Given the description of an element on the screen output the (x, y) to click on. 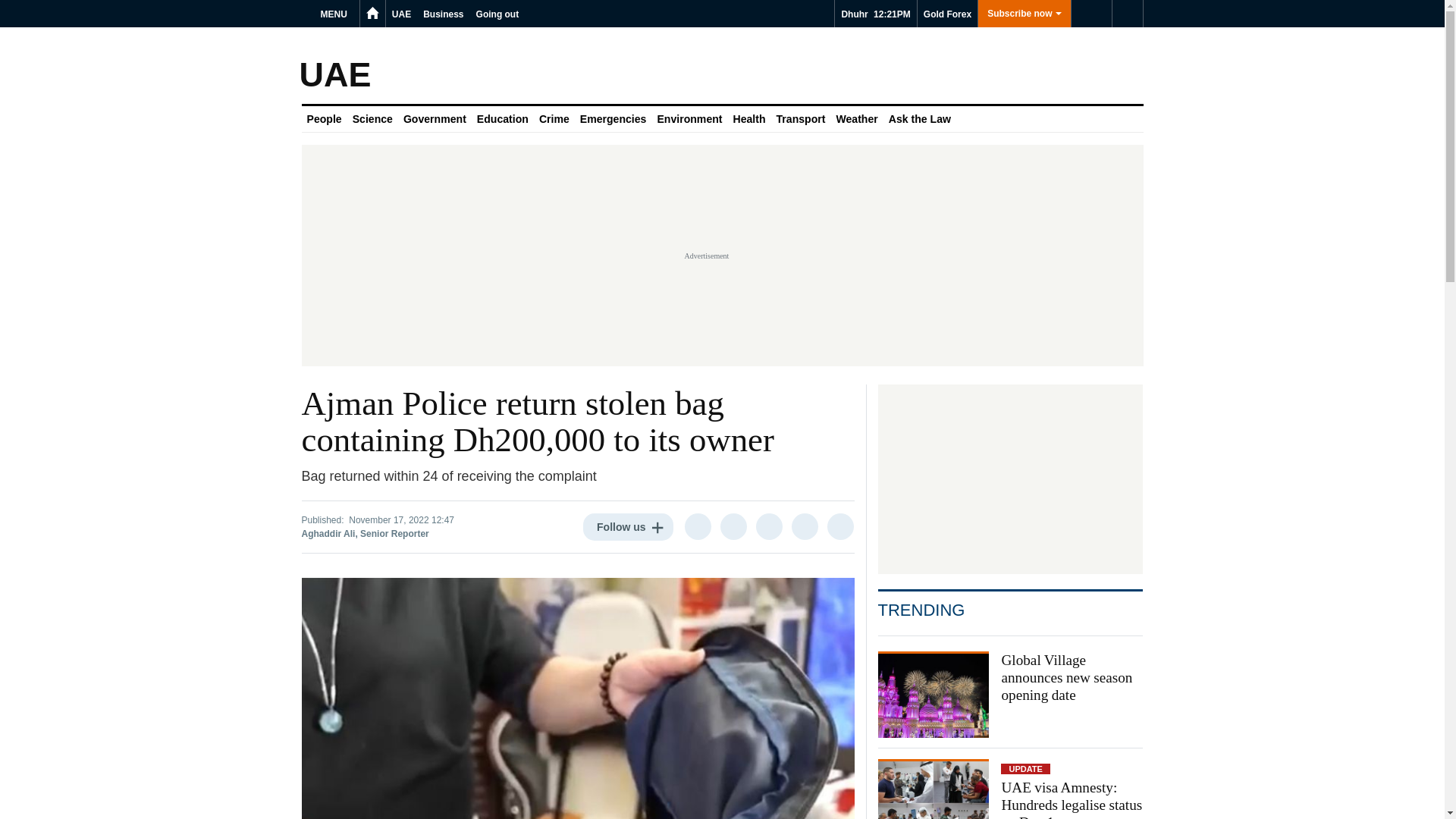
Dhuhr 12:21PM (874, 13)
Going out (497, 13)
Subscribe now (1024, 13)
Gold Forex (946, 13)
MENU (336, 13)
Business (442, 13)
UAE (400, 13)
